Given the description of an element on the screen output the (x, y) to click on. 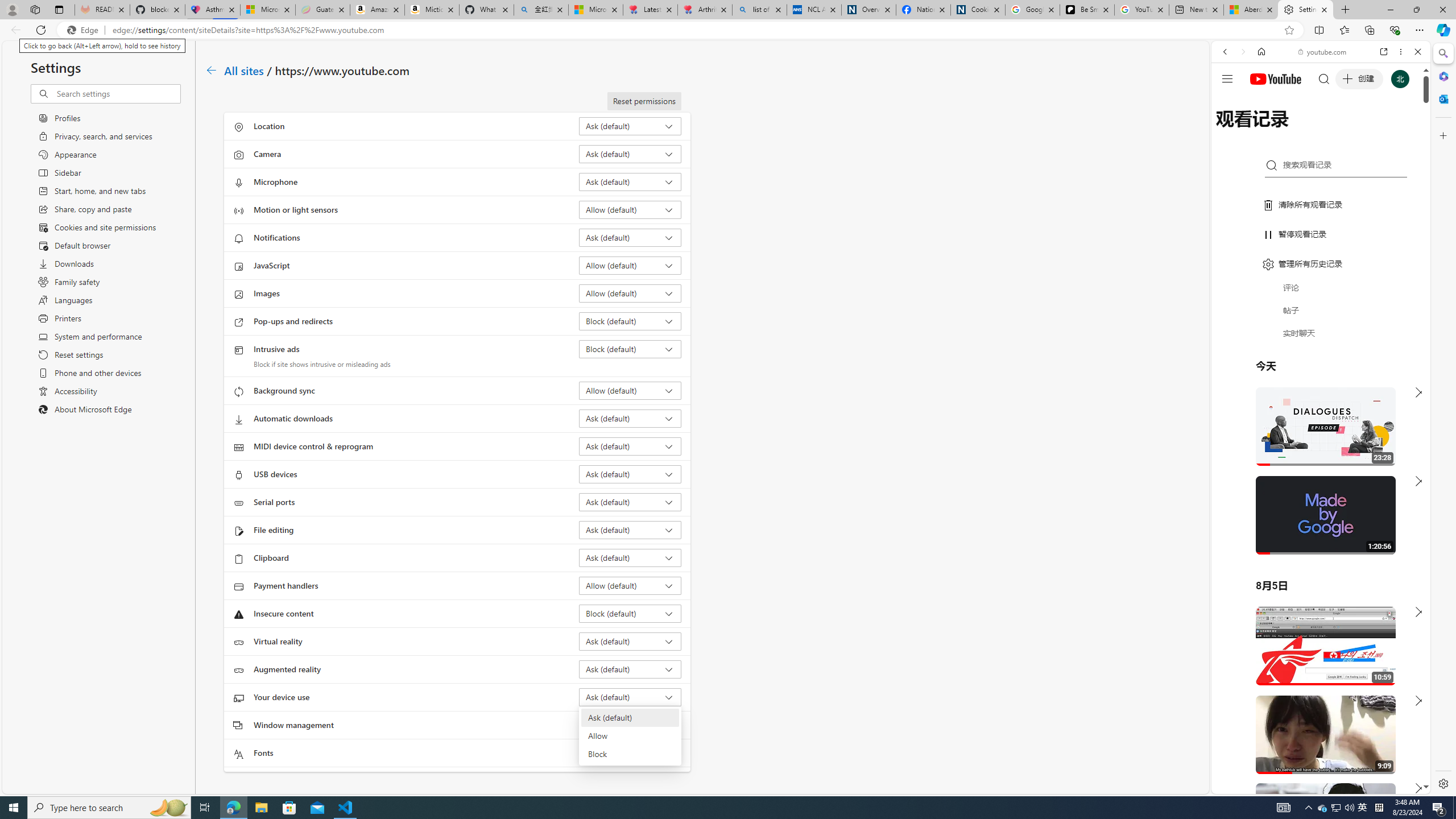
Search Filter, Search Tools (1350, 129)
Music (1320, 309)
SEARCH TOOLS (1350, 130)
Search videos from youtube.com (1299, 373)
Open link in new tab (1383, 51)
Your device use Ask (default) (630, 696)
YouTube - YouTube (1315, 560)
YouTube (1315, 655)
File editing Ask (default) (630, 529)
Images Allow (default) (630, 293)
